Given the description of an element on the screen output the (x, y) to click on. 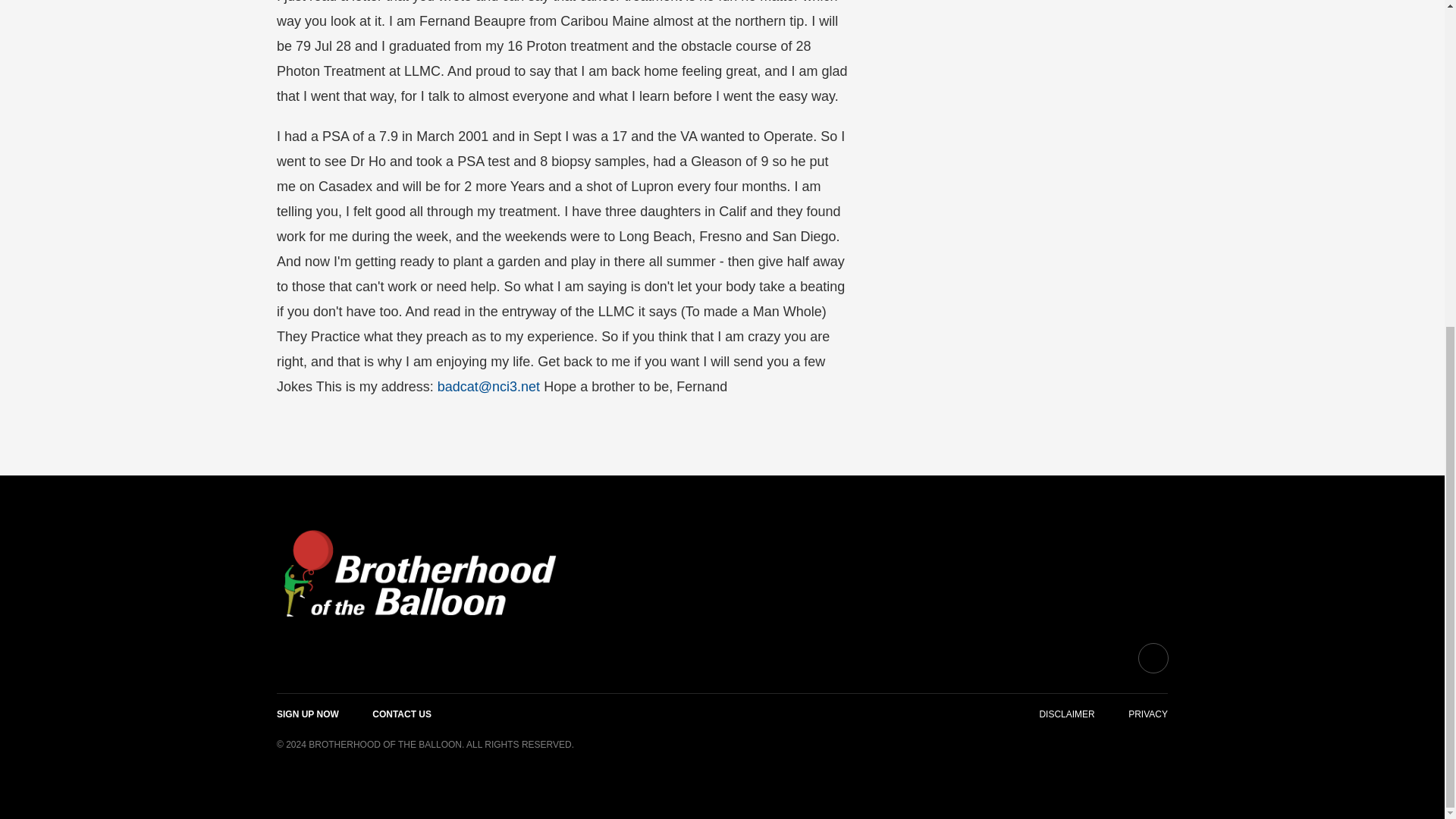
SIGN UP NOW (307, 714)
DISCLAIMER (1066, 714)
PRIVACY (1147, 714)
CONTACT US (401, 714)
